Given the description of an element on the screen output the (x, y) to click on. 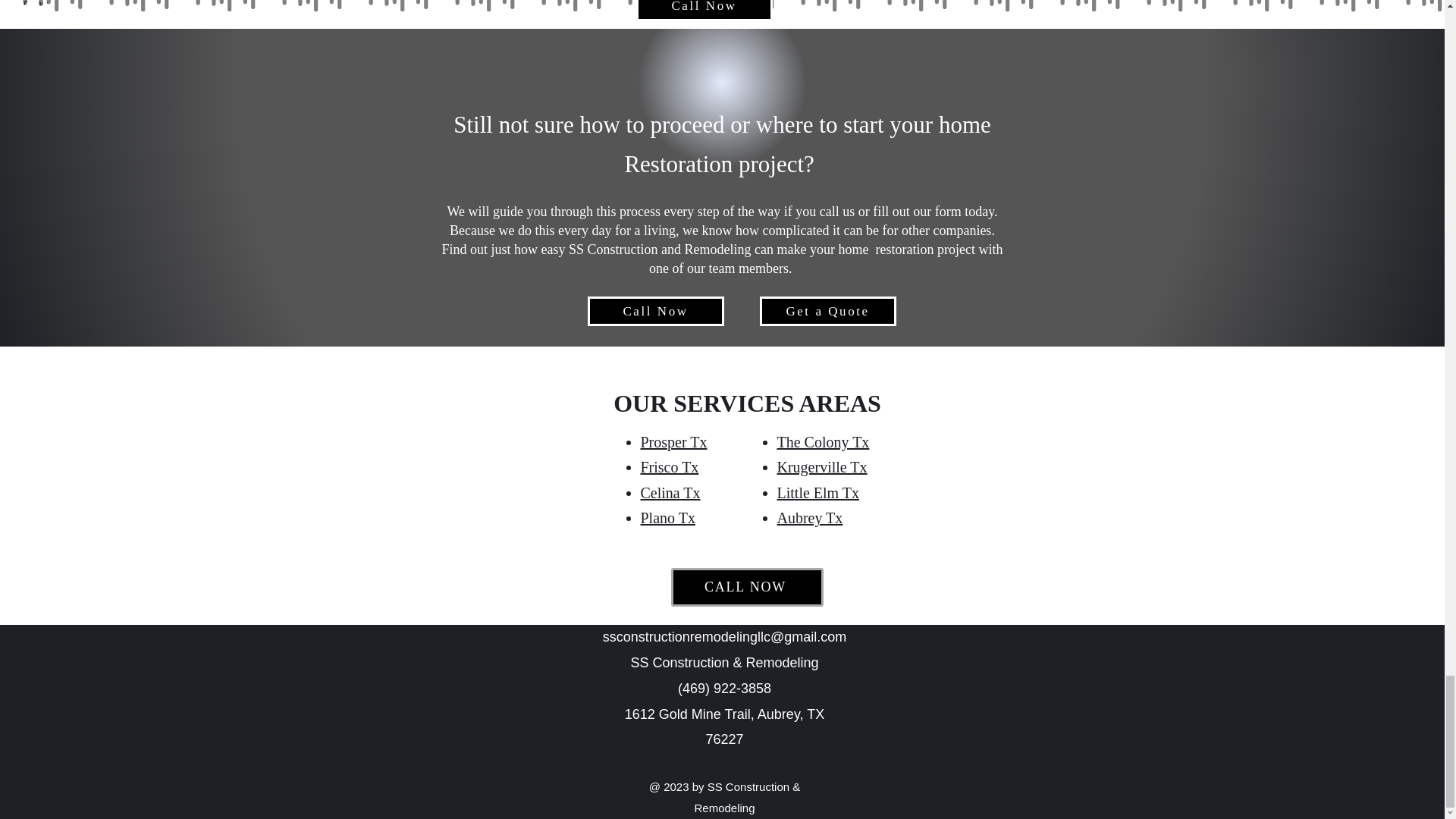
Call Now (702, 10)
Get a Quote (828, 310)
Prosper Tx (673, 442)
Frisco Tx (669, 466)
CALL NOW (745, 587)
Krugerville Tx (821, 466)
Aubrey Tx (809, 517)
Plano Tx (667, 517)
Call Now (654, 310)
Celina Tx (670, 492)
Little Elm Tx (817, 492)
The Colony Tx (822, 442)
